Given the description of an element on the screen output the (x, y) to click on. 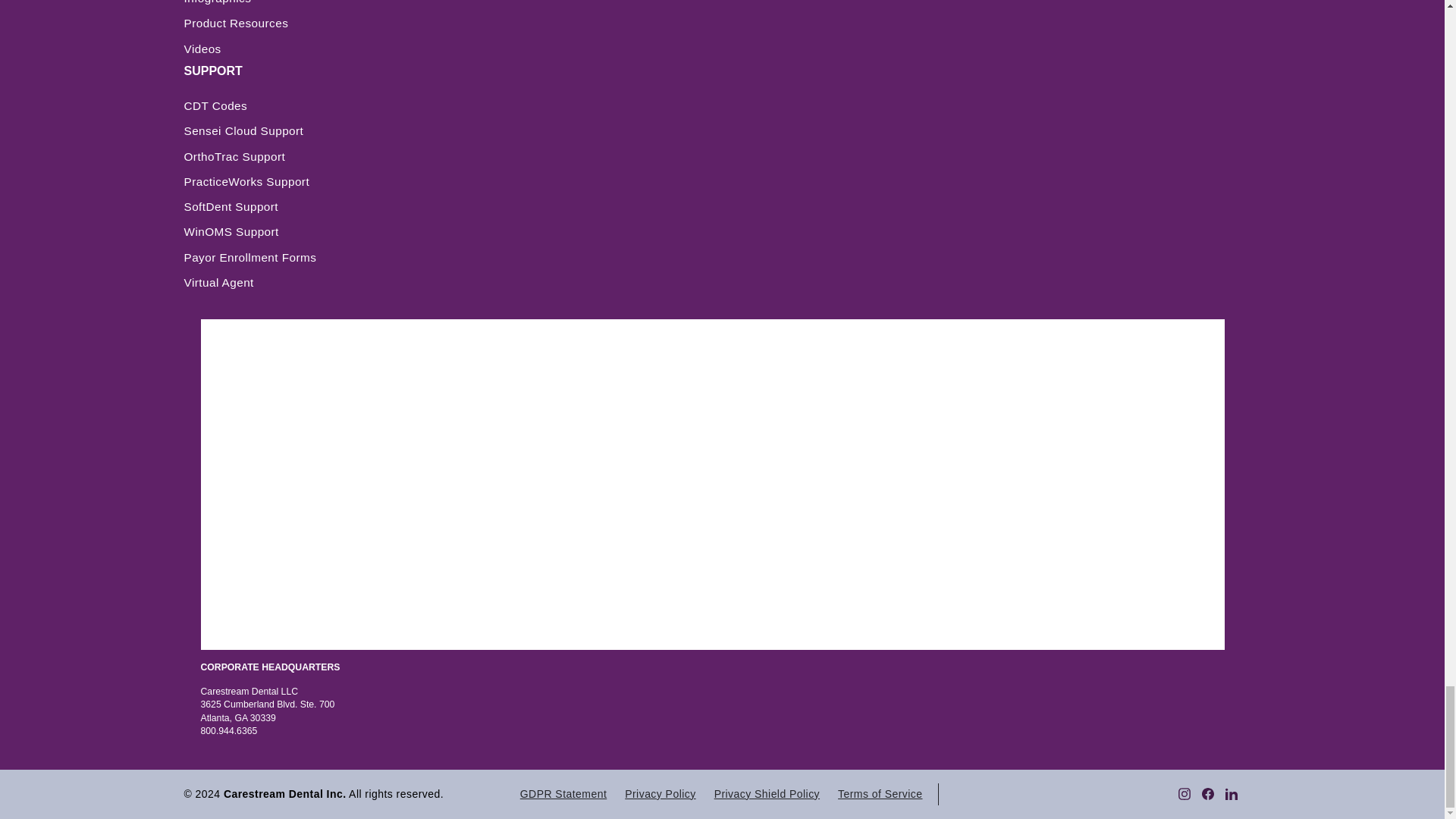
Carestream Dental on Instagram (1184, 792)
Carestream Dental on LinkedIn (1231, 792)
Carestream Dental on Facebook (1206, 792)
